Given the description of an element on the screen output the (x, y) to click on. 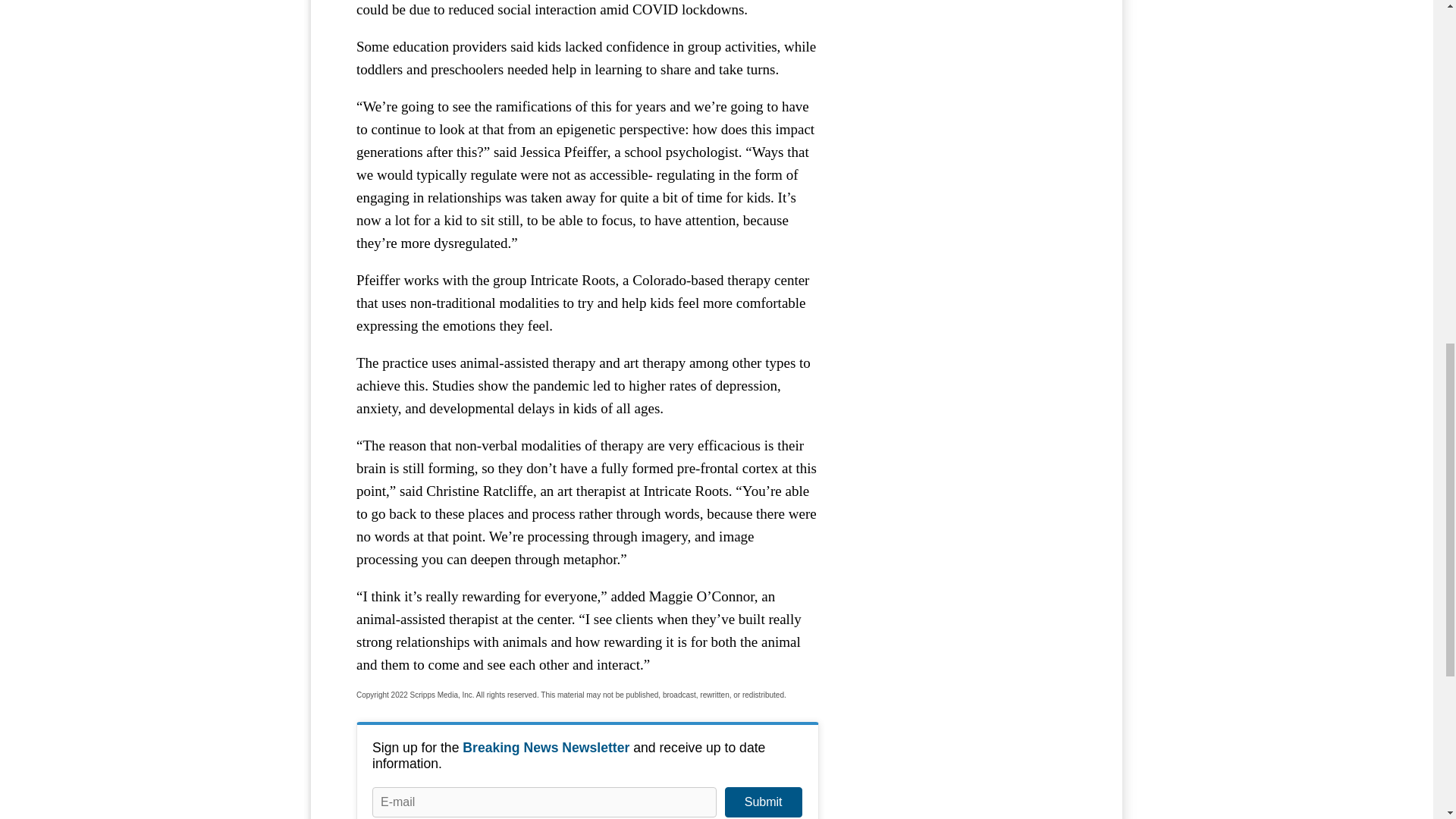
Submit (763, 802)
